Given the description of an element on the screen output the (x, y) to click on. 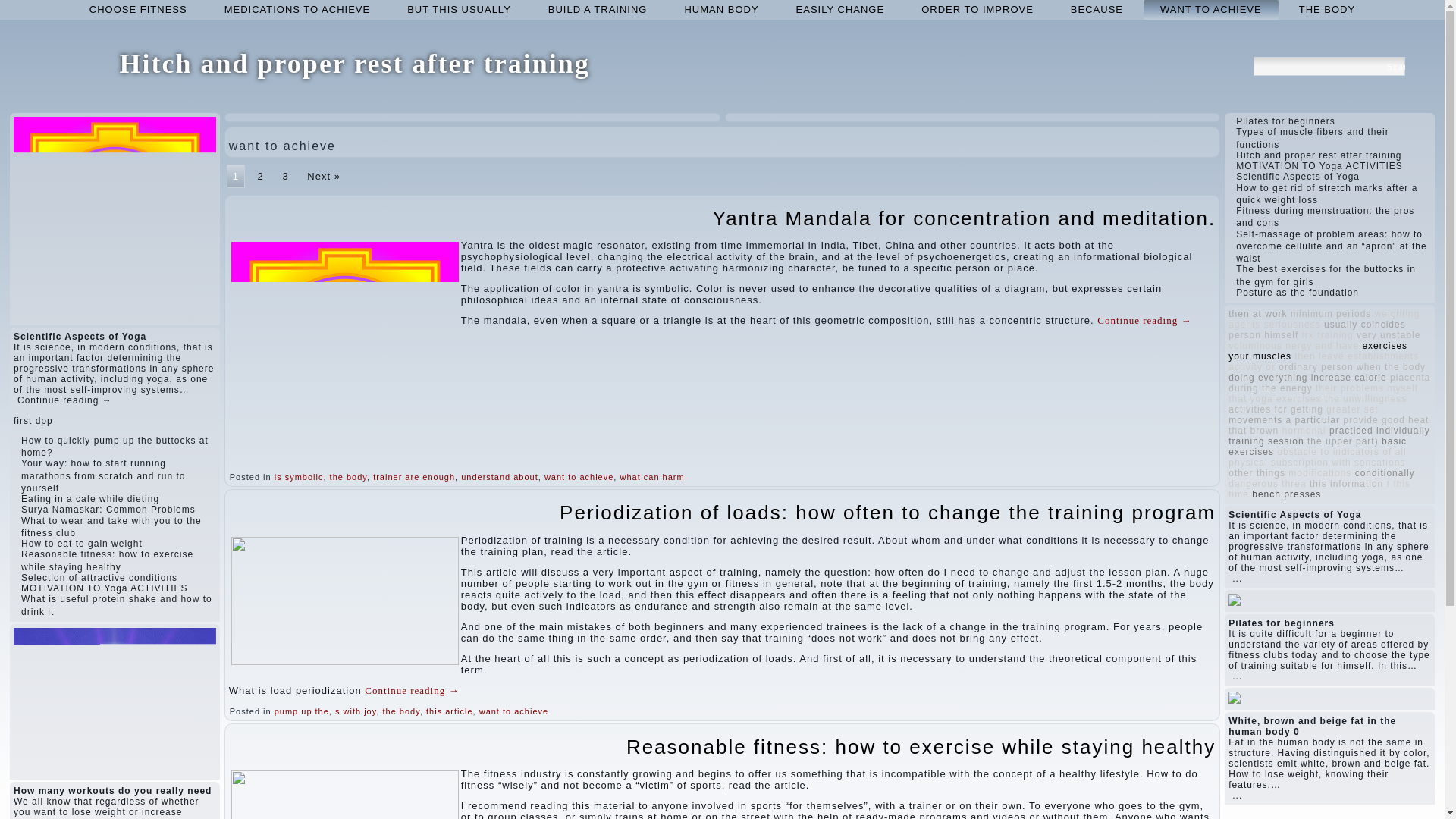
CHOOSE FITNESS (137, 9)
BECAUSE (1097, 9)
Hitch and proper rest after training (354, 63)
Eating in a cafe while dieting (89, 498)
Search (1396, 66)
order to improve (976, 9)
But this usually (458, 9)
How to eat to gain weight (81, 543)
How to eat to gain weight (81, 543)
Reasonable fitness: how to exercise while staying healthy (107, 559)
